Given the description of an element on the screen output the (x, y) to click on. 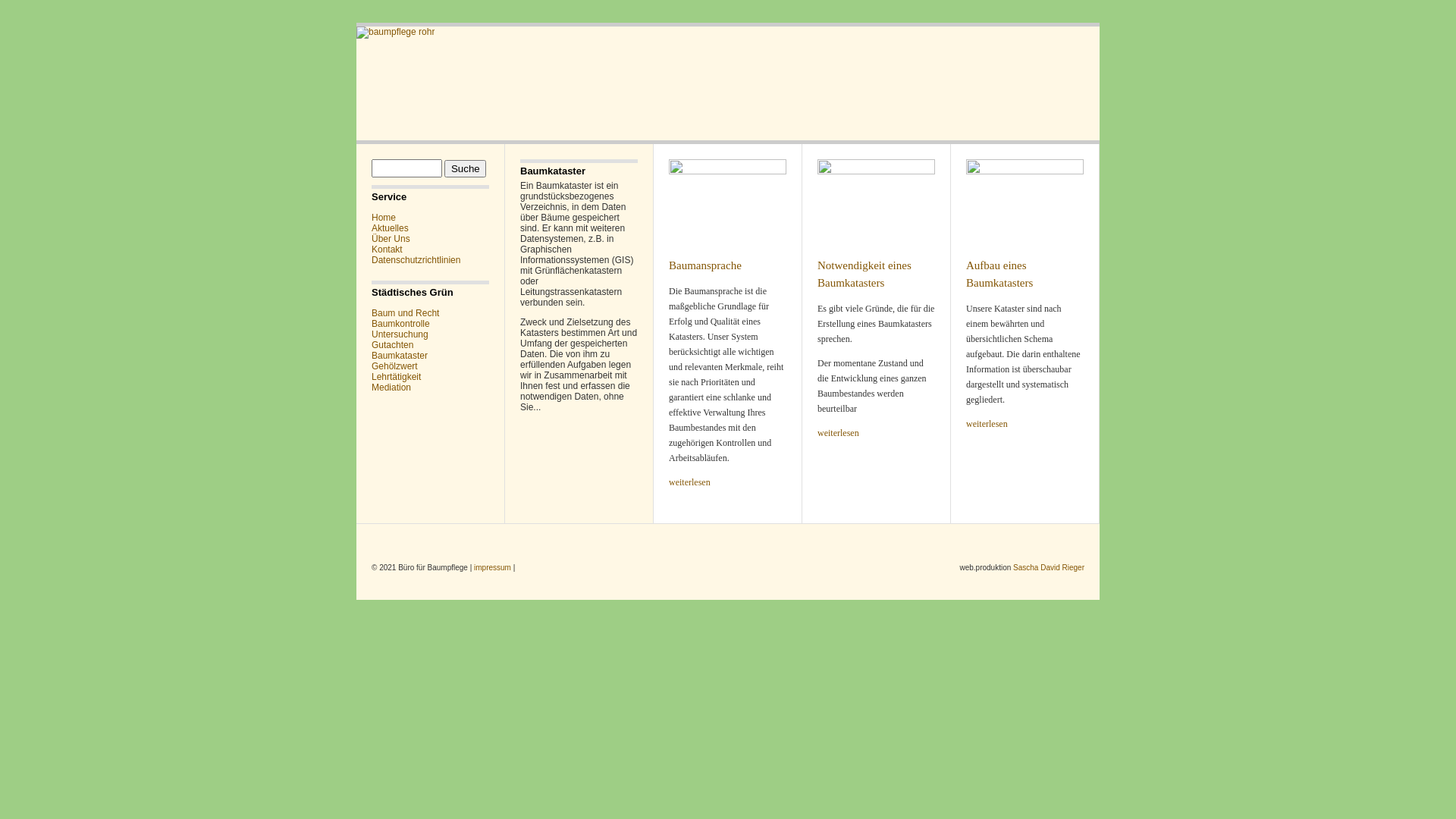
Baumansprache Element type: hover (727, 200)
Baumkontrolle Element type: text (400, 323)
Aktuelles Element type: text (389, 227)
weiterlesen Element type: text (727, 481)
Baum und Recht Element type: text (405, 312)
Aufbau eines Baumkatasters Element type: hover (1024, 200)
Aufbau eines Baumkatasters Element type: text (999, 273)
Untersuchung Element type: text (399, 334)
Notwendigkeit eines Baumkatasters Element type: text (864, 273)
Notwendigkeit eines Baumkatasters Element type: hover (876, 200)
weiterlesen Element type: text (1024, 423)
Suche Element type: text (465, 167)
Baumkataster Element type: text (399, 355)
impressum Element type: text (492, 567)
weiterlesen Element type: text (876, 432)
Mediation Element type: text (391, 387)
Baumansprache Element type: text (704, 265)
Datenschutzrichtlinien Element type: text (415, 259)
Kontakt Element type: text (386, 249)
Home Element type: text (383, 217)
Gutachten Element type: text (392, 344)
Sascha David Rieger Element type: text (1048, 567)
